Given the description of an element on the screen output the (x, y) to click on. 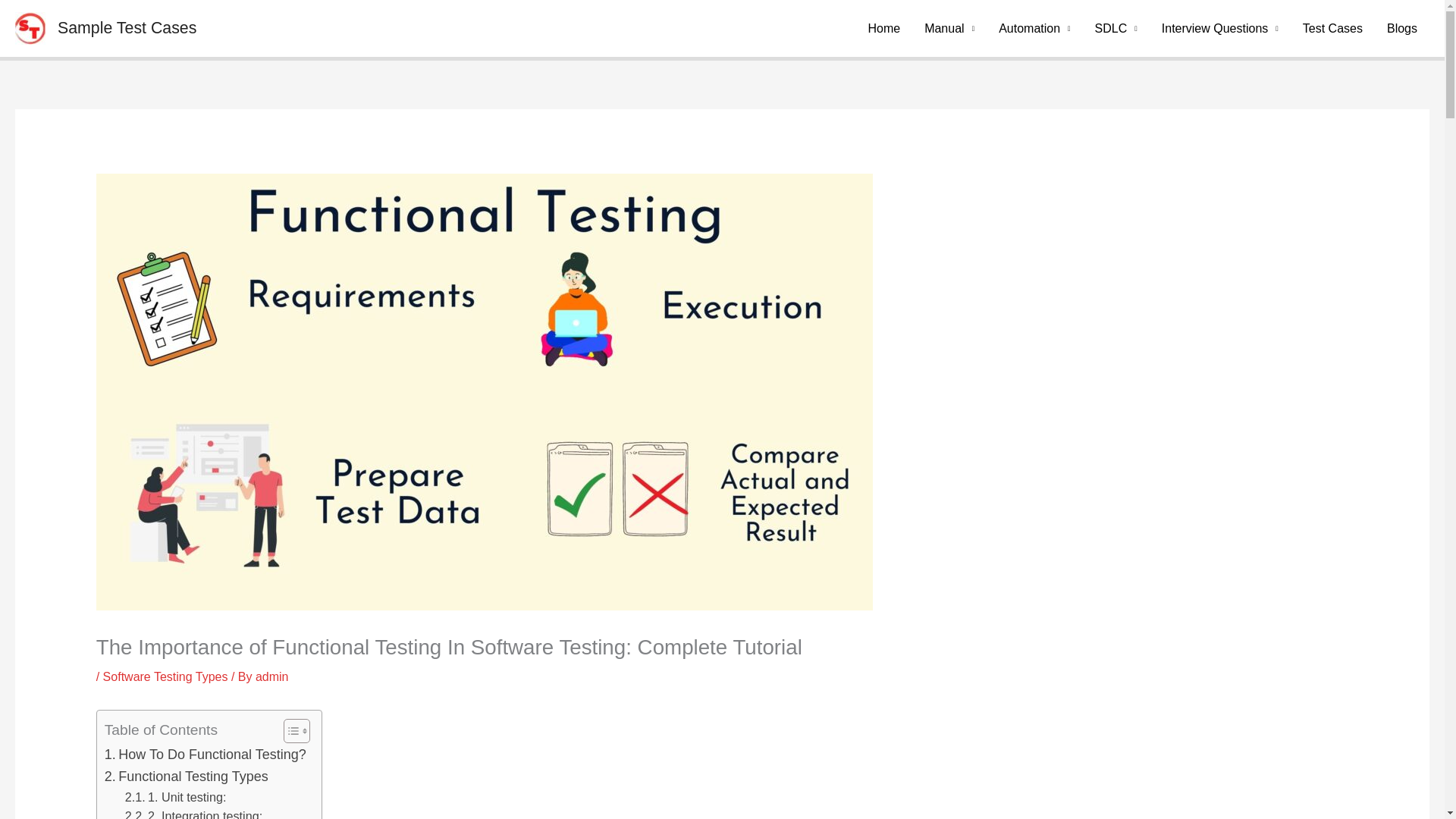
How To Do Functional Testing? (204, 754)
Home (884, 28)
Software Testing Types (165, 676)
View all posts by admin (272, 676)
2. Integration testing: (193, 812)
Test Cases (1332, 28)
Functional Testing Types (185, 776)
Blogs (1401, 28)
Automation (1034, 28)
1. Unit testing: (176, 796)
Functional Testing Types (185, 776)
1. Unit testing:  (176, 796)
SDLC (1116, 28)
How To Do Functional Testing? (204, 754)
Sample Test Cases (127, 27)
